Given the description of an element on the screen output the (x, y) to click on. 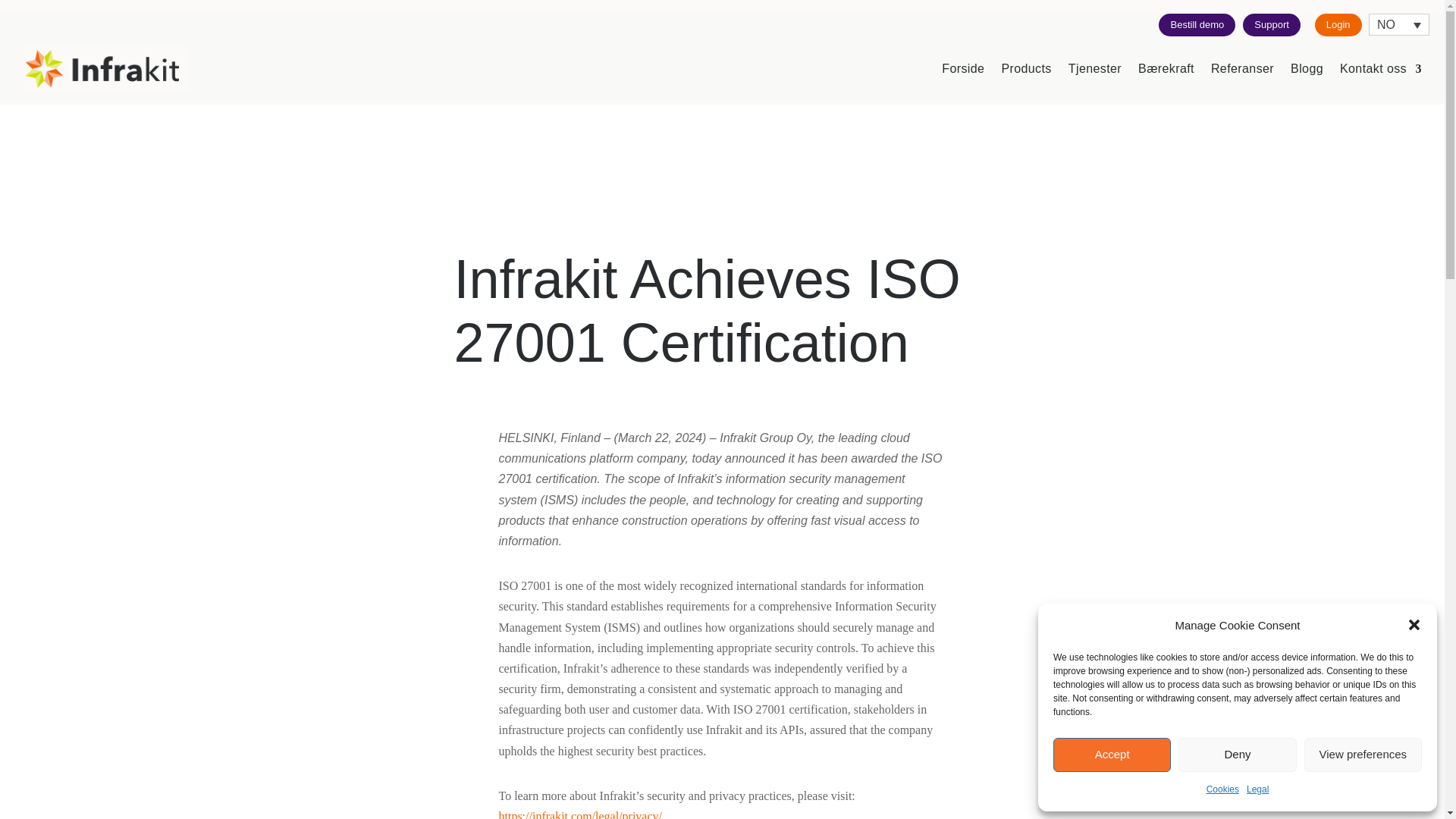
Accept (1111, 754)
NO (1398, 24)
Cookies (1223, 789)
Legal (1257, 789)
Bestill demo (1196, 24)
View preferences (1363, 754)
Support (1271, 24)
Referanser (1242, 68)
Login (1337, 24)
Kontakt oss (1380, 68)
